Given the description of an element on the screen output the (x, y) to click on. 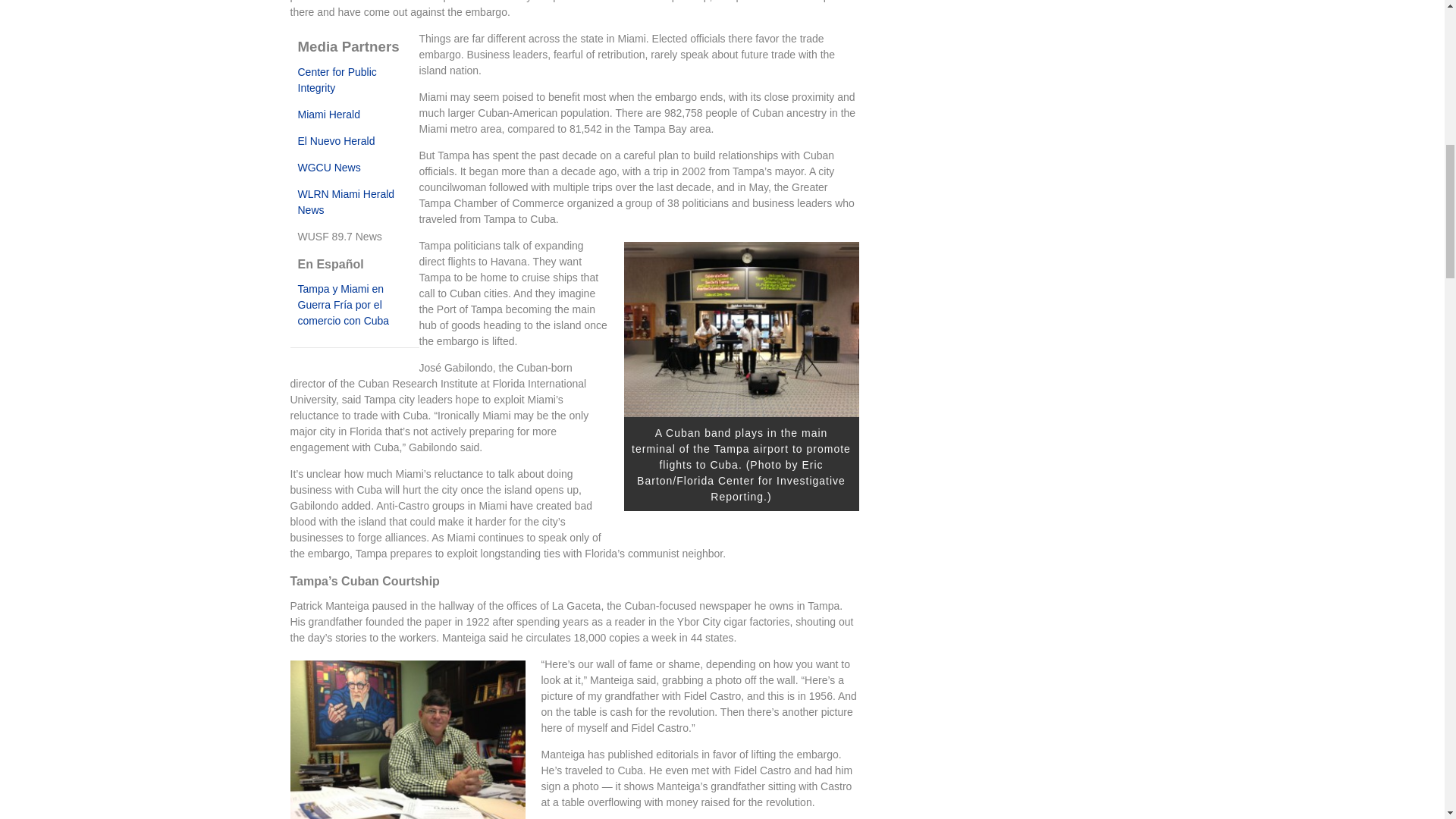
WGCU News (328, 167)
El Nuevo Herald (335, 141)
Miami Herald (328, 114)
Center for Public Integrity (336, 80)
WLRN Miami Herald News (345, 202)
